Given the description of an element on the screen output the (x, y) to click on. 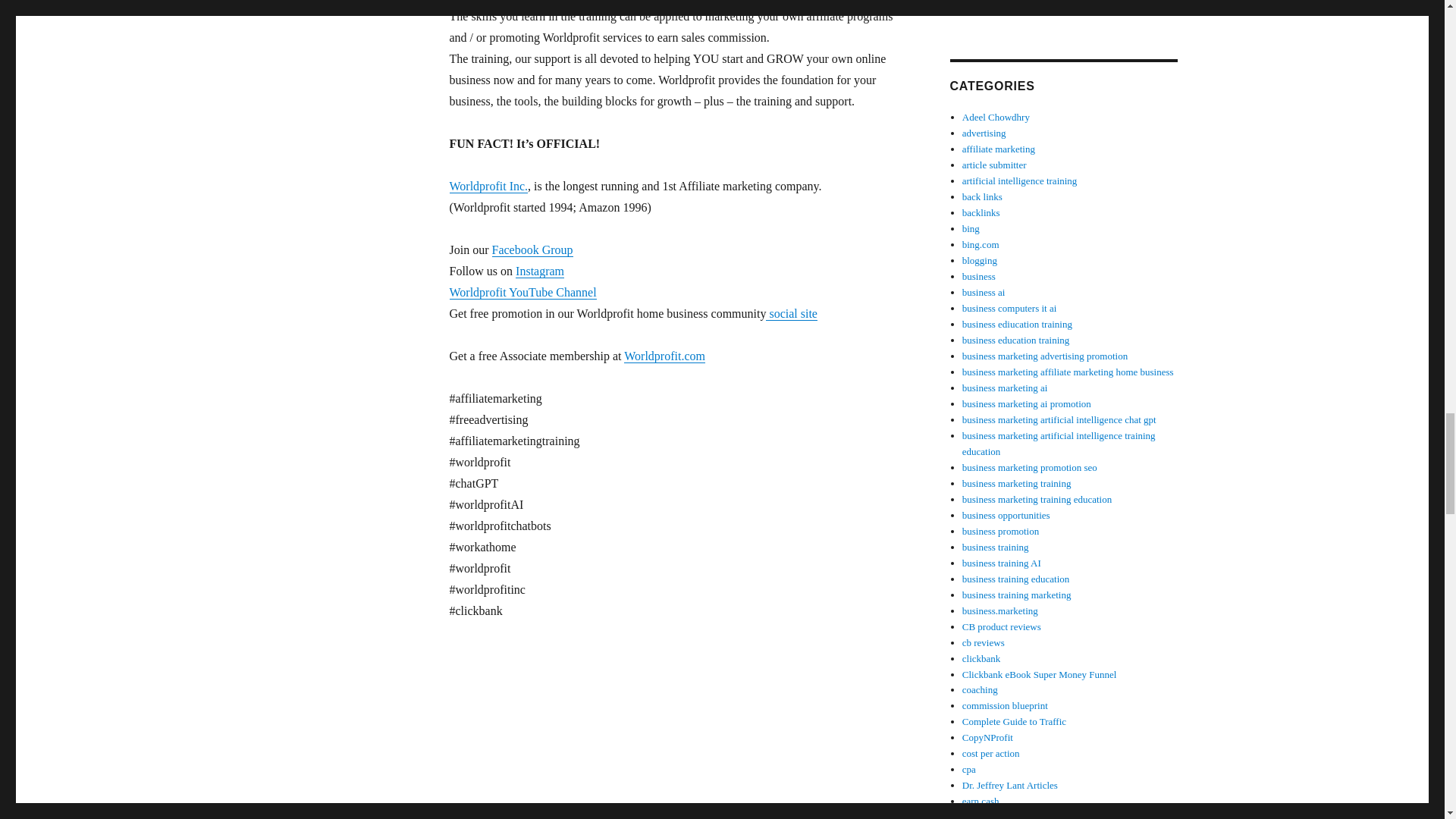
Worldprofit.com (664, 355)
Worldprofit Inc. (487, 185)
Instagram (539, 270)
Facebook Group (532, 249)
Worldprofit YouTube Channel (521, 291)
social site (790, 313)
